Given the description of an element on the screen output the (x, y) to click on. 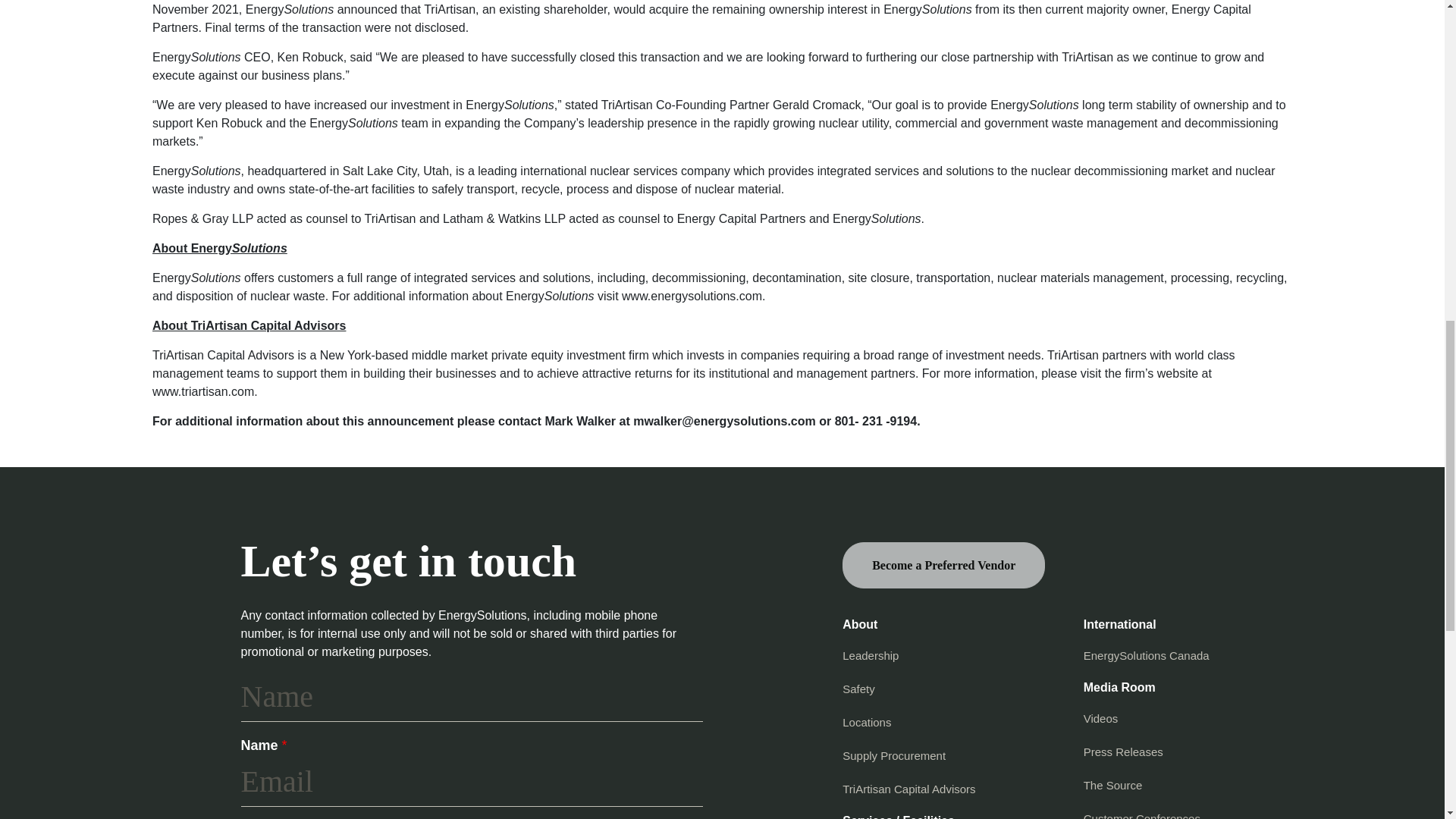
Leadership (870, 655)
TriArtisan Capital Advisors (909, 788)
Locations (867, 721)
Supply Procurement (893, 755)
Become a Preferred Vendor (944, 565)
www.energysolutions.com (691, 295)
Page 2 (722, 421)
Safety (859, 688)
